Given the description of an element on the screen output the (x, y) to click on. 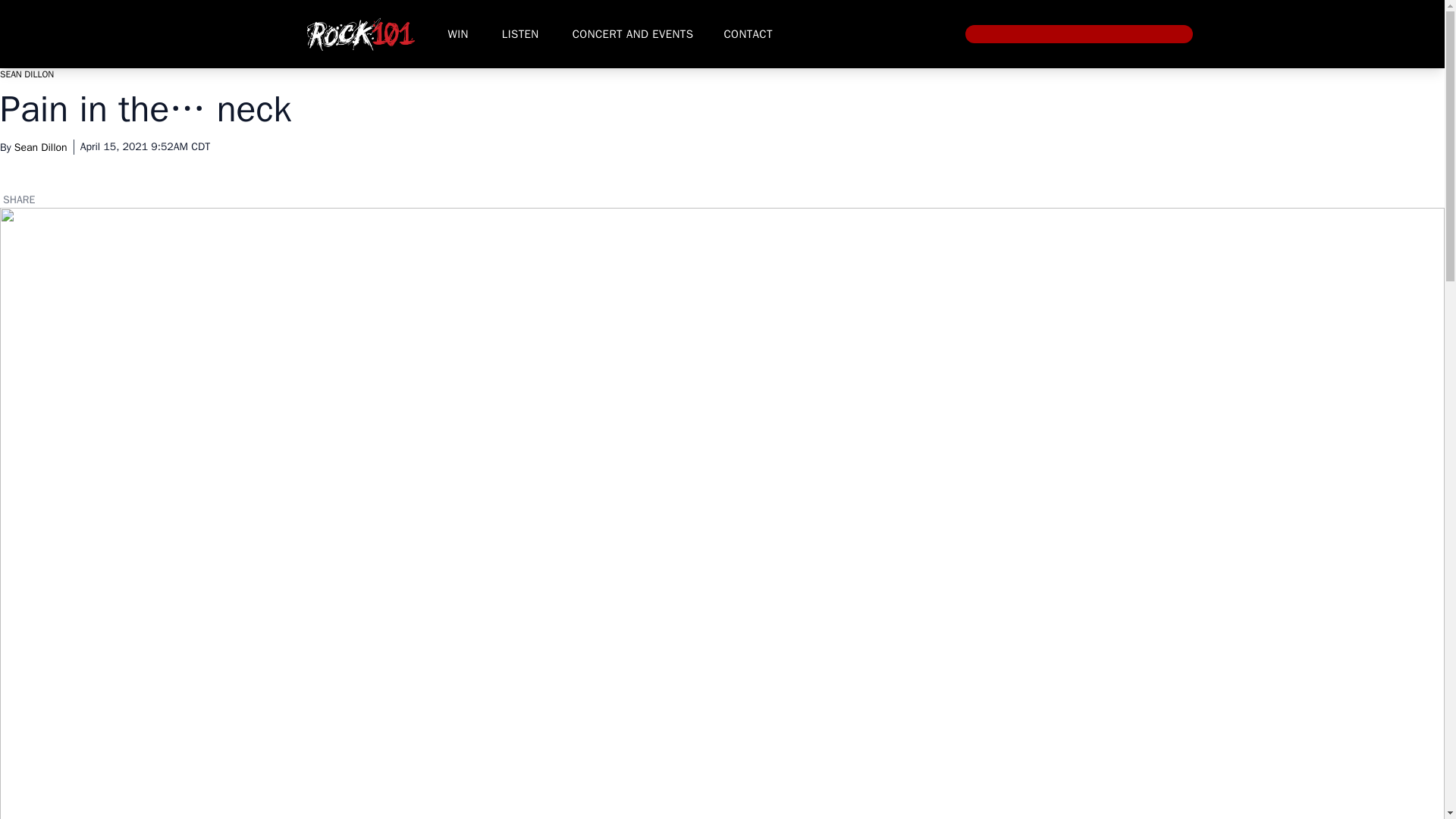
WIN (456, 33)
Rock 101 (359, 33)
